Given the description of an element on the screen output the (x, y) to click on. 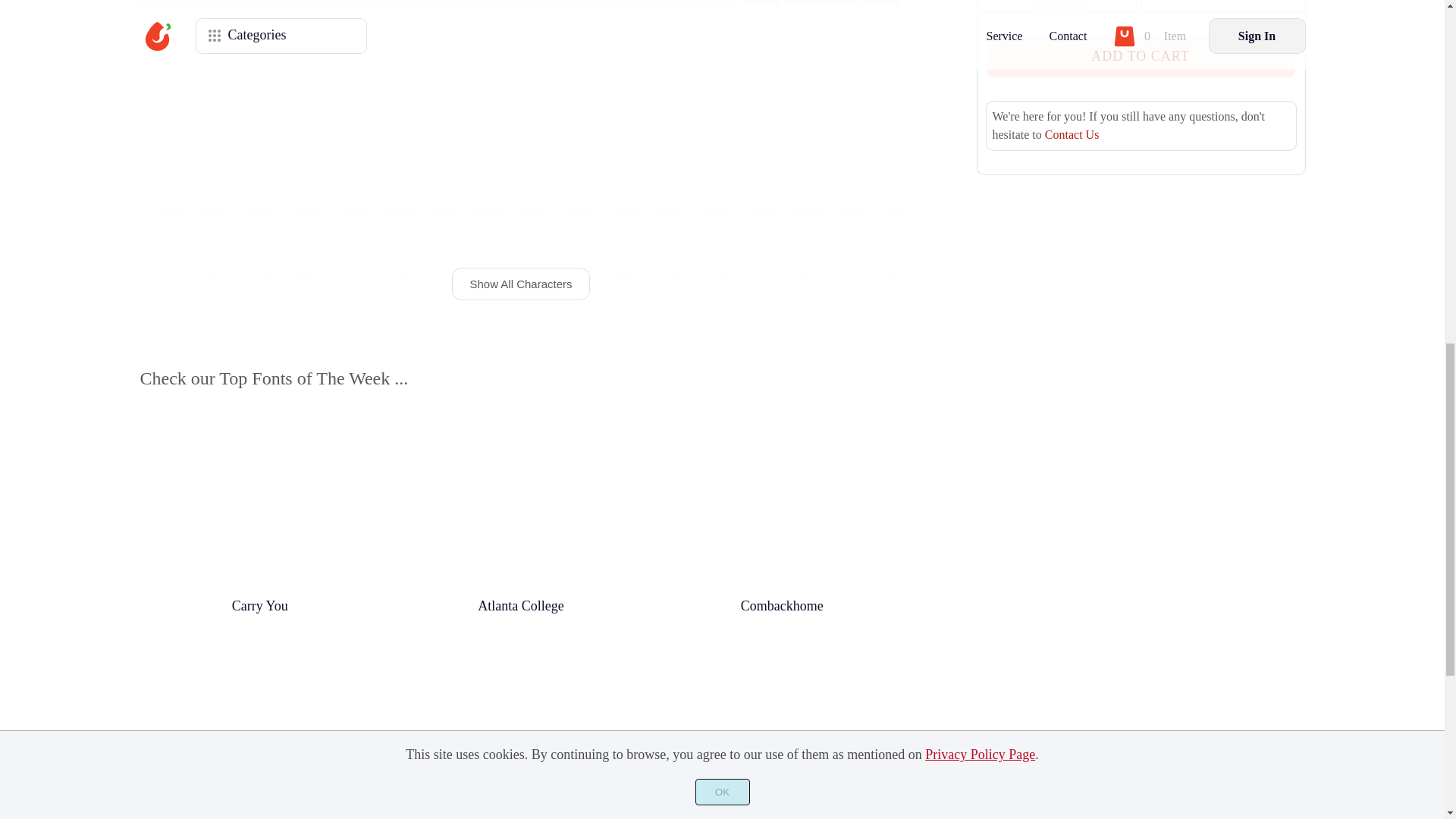
Show All Characters (520, 283)
Contact Us (1072, 133)
Carry You (259, 606)
1 (1058, 5)
Atlanta College (521, 606)
ADD TO CART (1139, 56)
Combackhome (782, 606)
- (1003, 5)
Contact Us! (1072, 133)
